Given the description of an element on the screen output the (x, y) to click on. 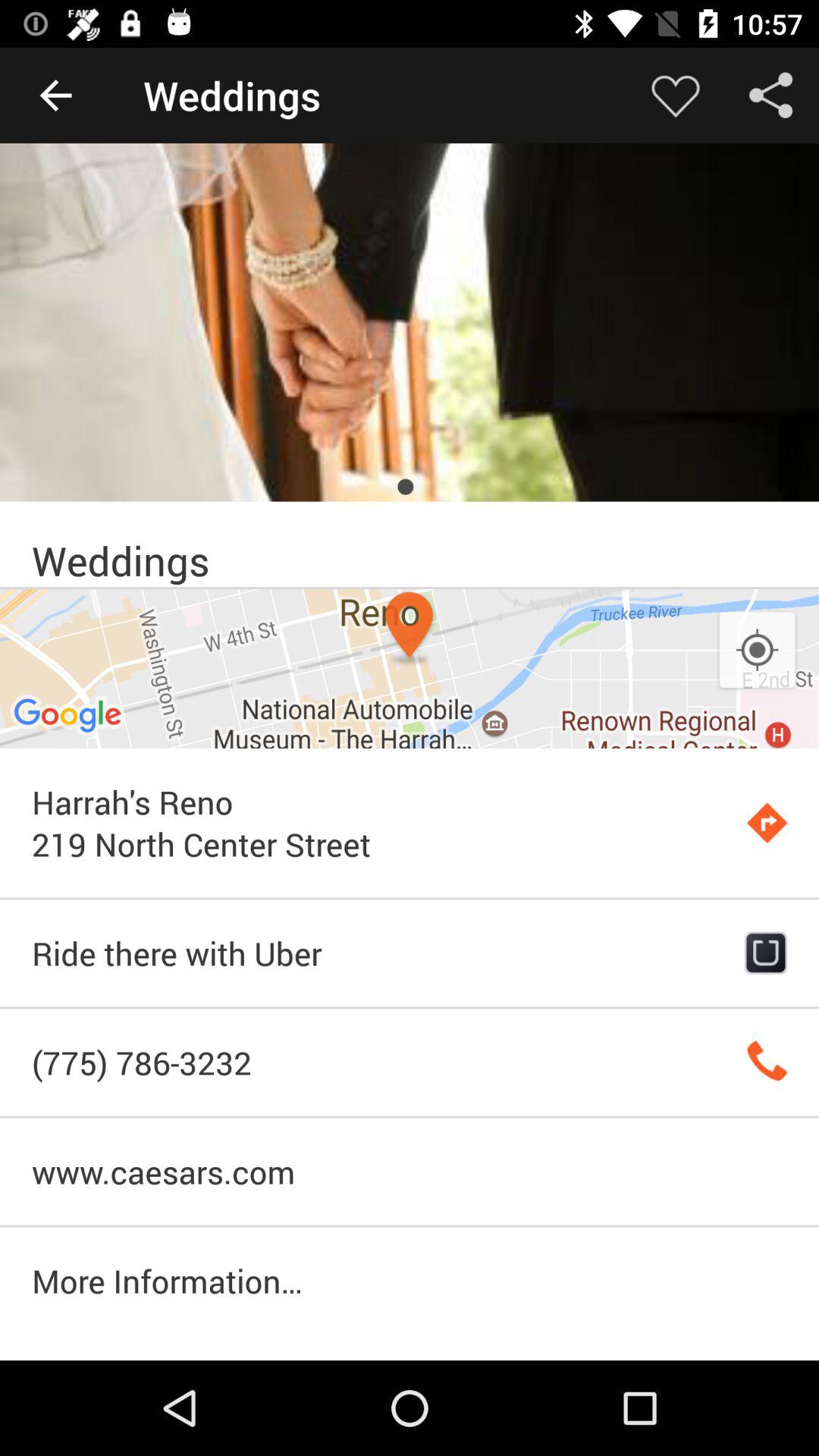
turn off item to the right of the weddings (675, 95)
